Given the description of an element on the screen output the (x, y) to click on. 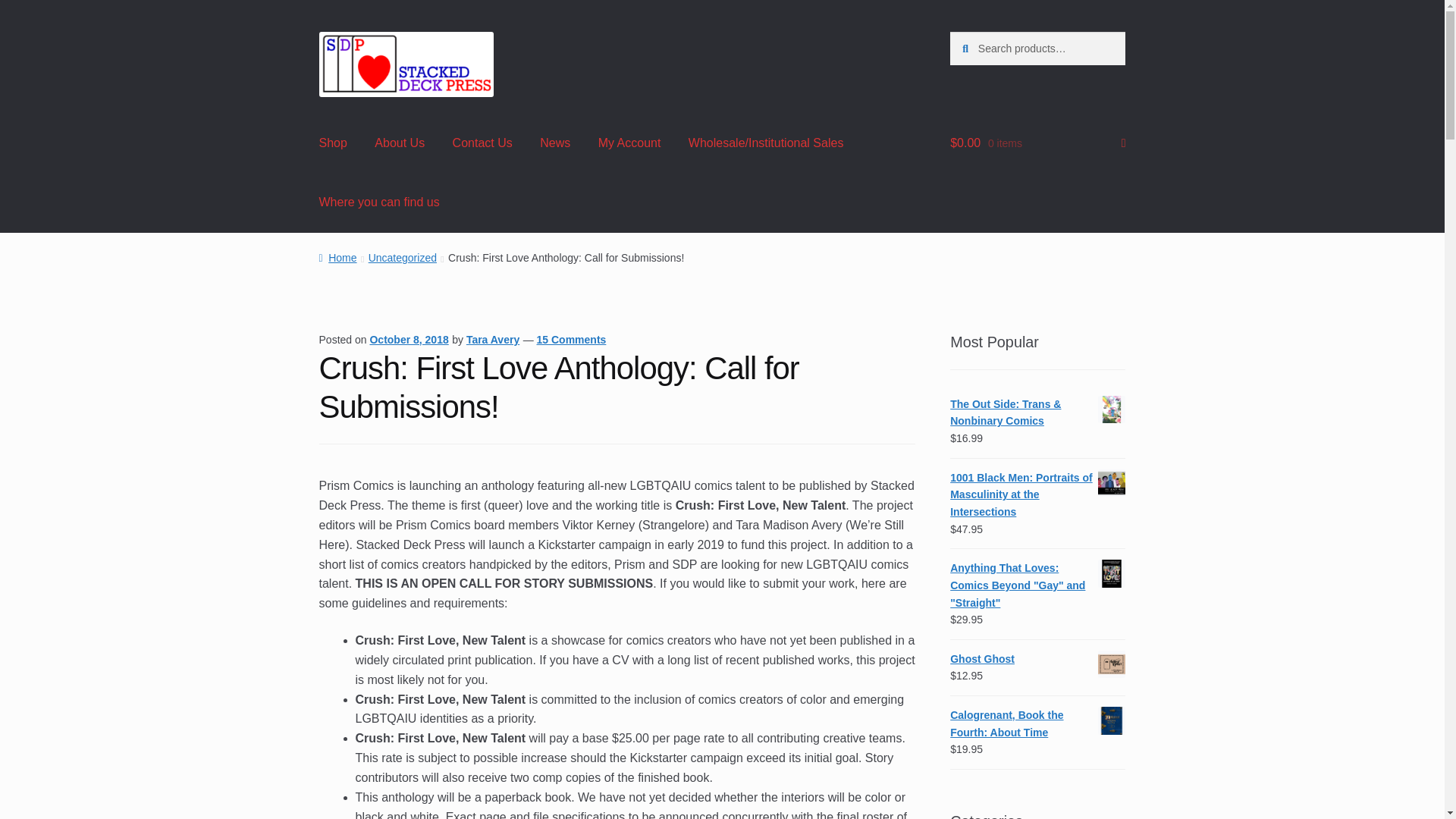
View your shopping cart (1037, 143)
Contact Us (482, 143)
News (554, 143)
15 Comments (572, 339)
My Account (629, 143)
About Us (399, 143)
Home (337, 257)
October 8, 2018 (408, 339)
Where you can find us (379, 201)
Tara Avery (492, 339)
Uncategorized (402, 257)
